Given the description of an element on the screen output the (x, y) to click on. 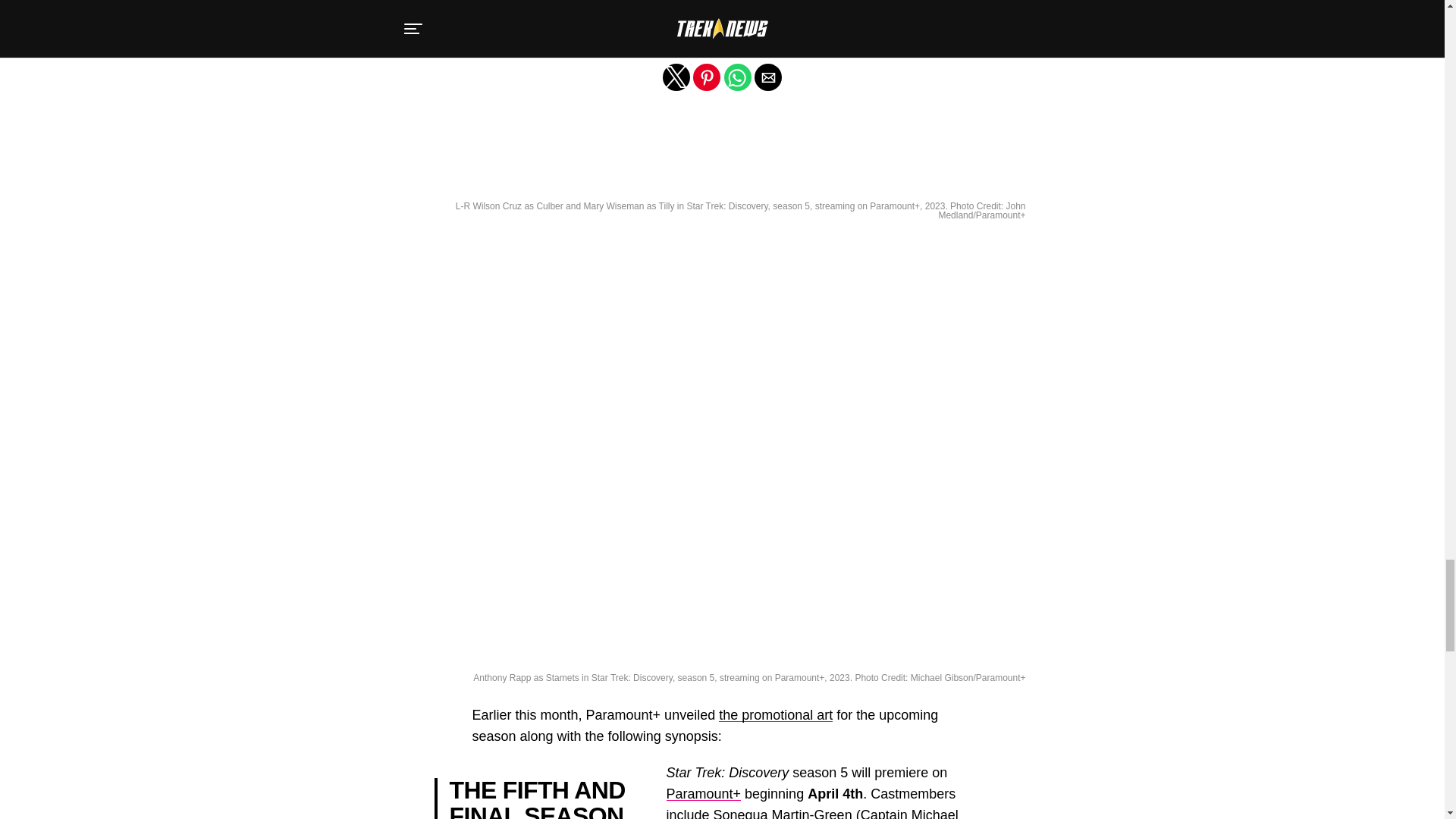
the promotional art (775, 714)
